Given the description of an element on the screen output the (x, y) to click on. 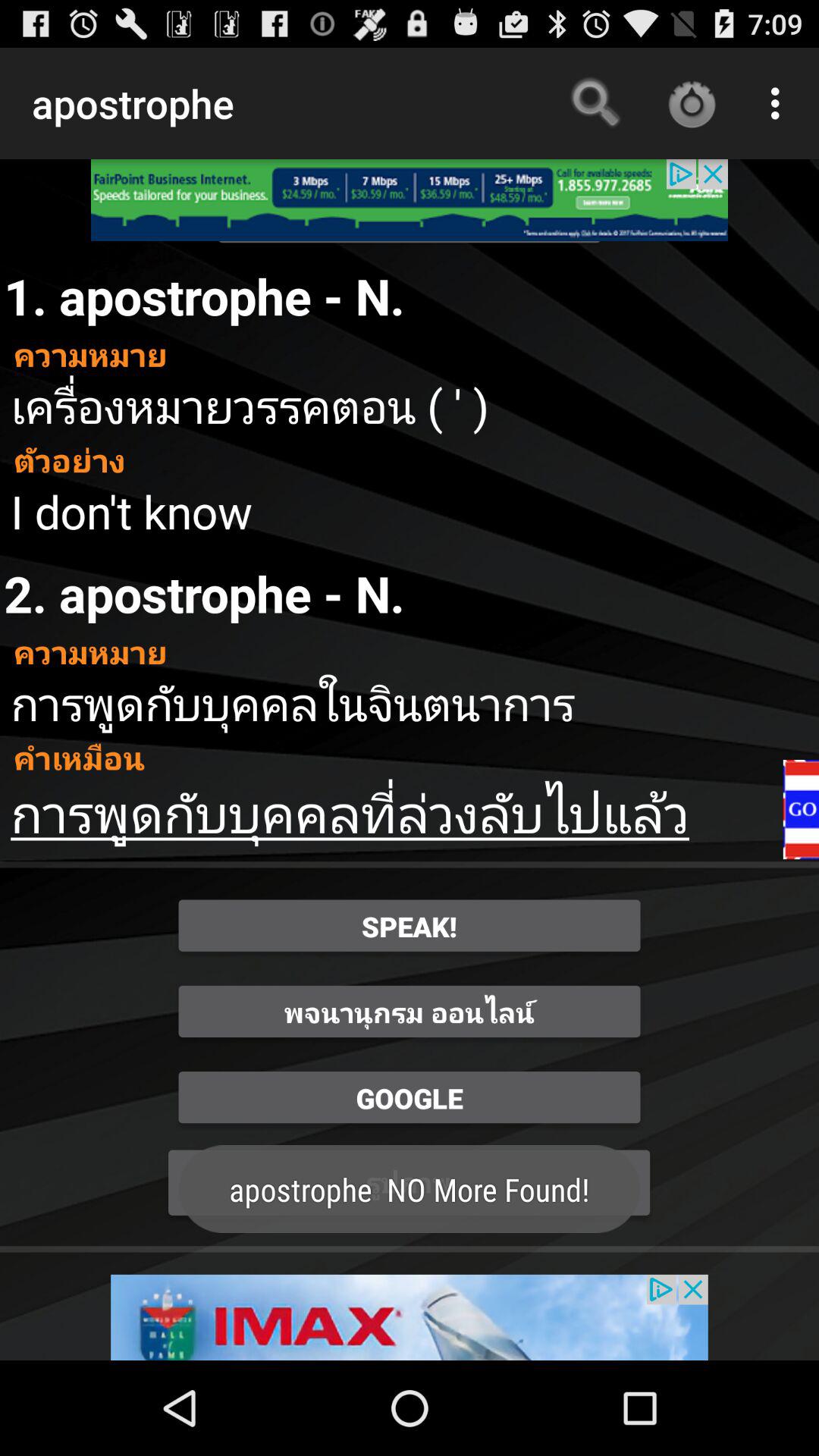
select the speak button (409, 925)
click on apostrophe no more found below google (409, 1182)
